Given the description of an element on the screen output the (x, y) to click on. 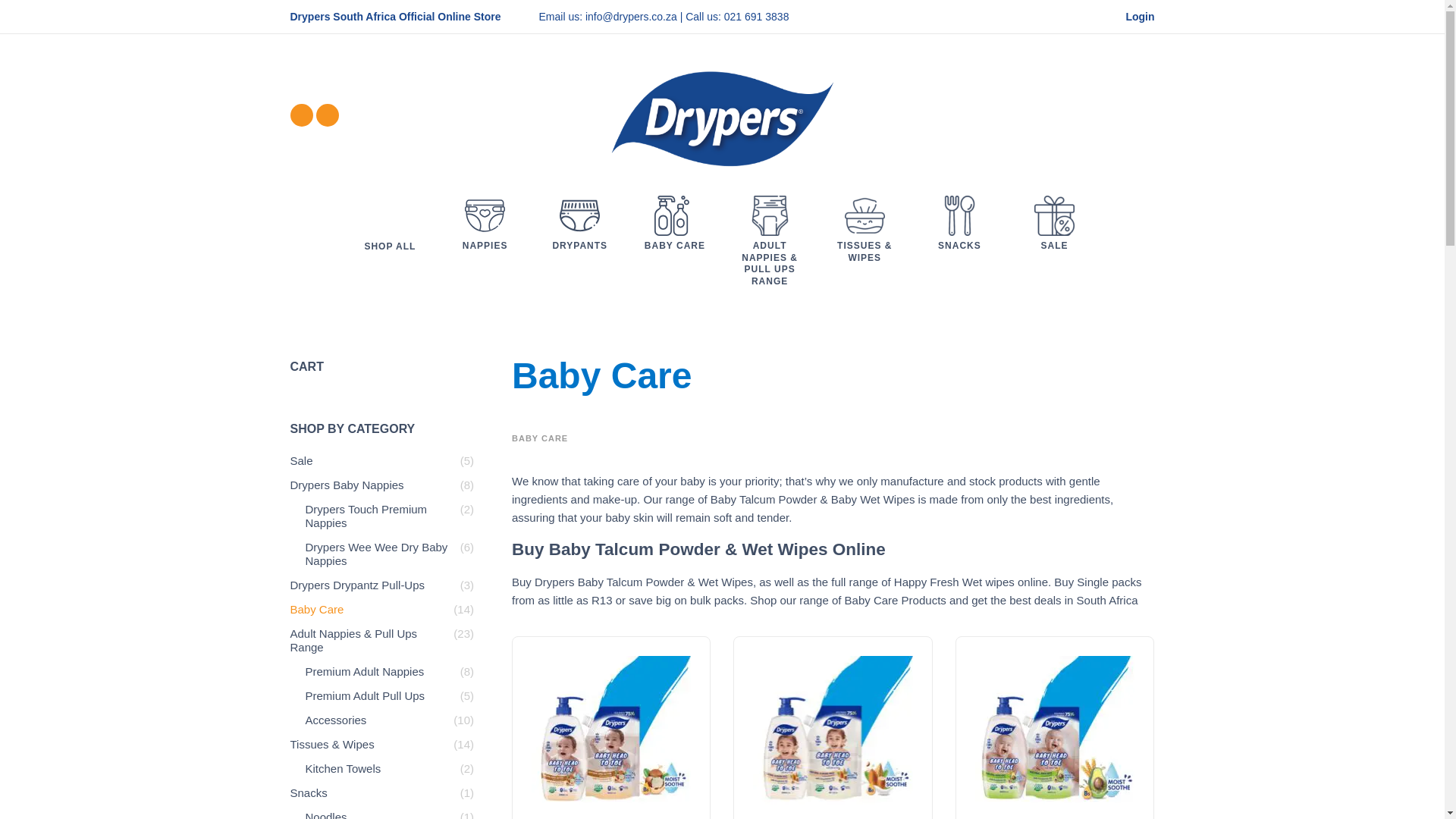
DRYPANTS (580, 236)
Login (1133, 16)
NAPPIES (484, 236)
SHOP ALL (389, 244)
Drypers South Africa Official Online Store (394, 16)
021 691 3838 (756, 16)
BABY CARE (674, 236)
